Given the description of an element on the screen output the (x, y) to click on. 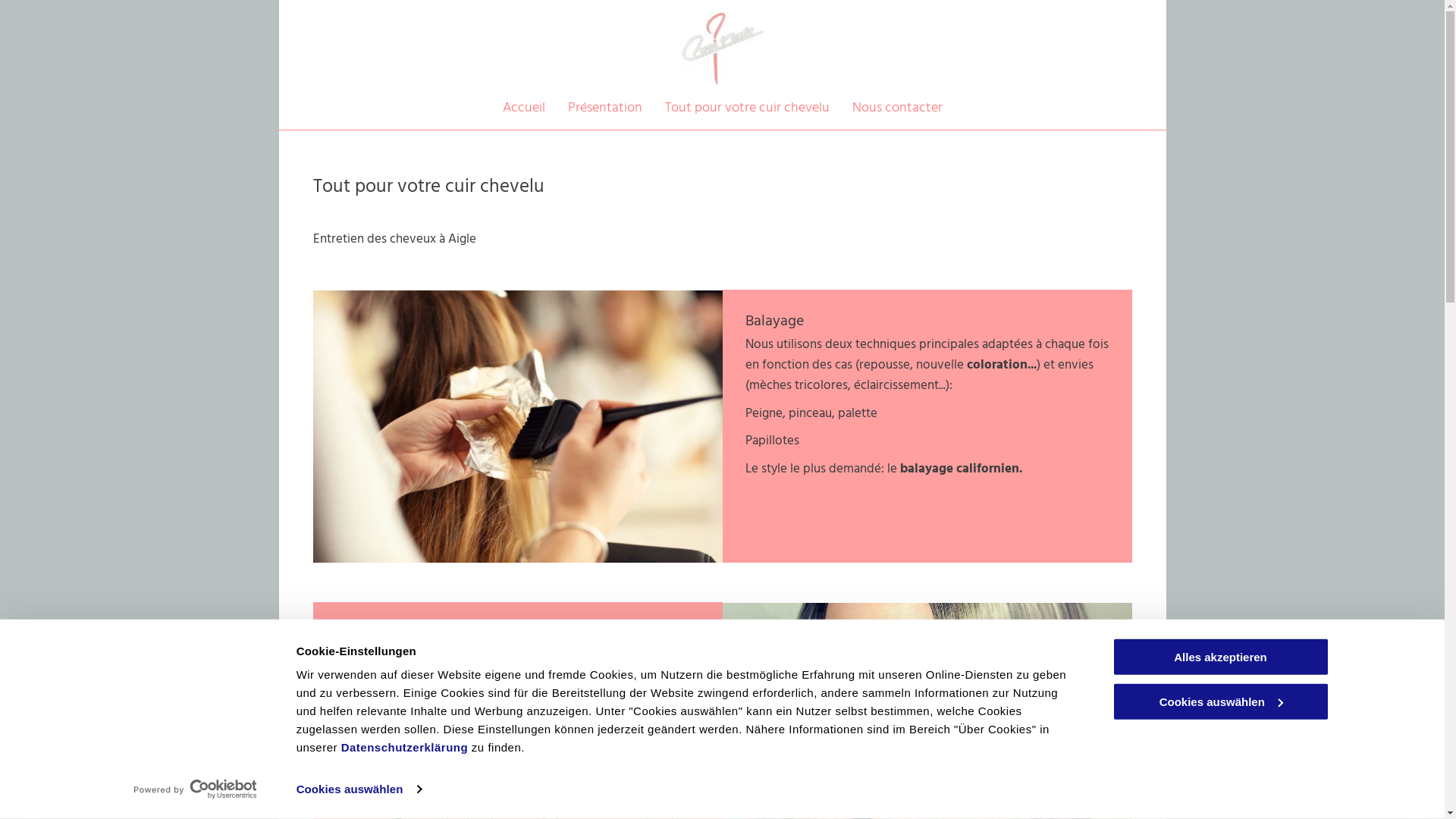
Nous contacter Element type: text (897, 107)
Accueil Element type: text (523, 107)
Tout pour votre cuir chevelu Element type: text (746, 107)
Alles akzeptieren Element type: text (1219, 656)
